Given the description of an element on the screen output the (x, y) to click on. 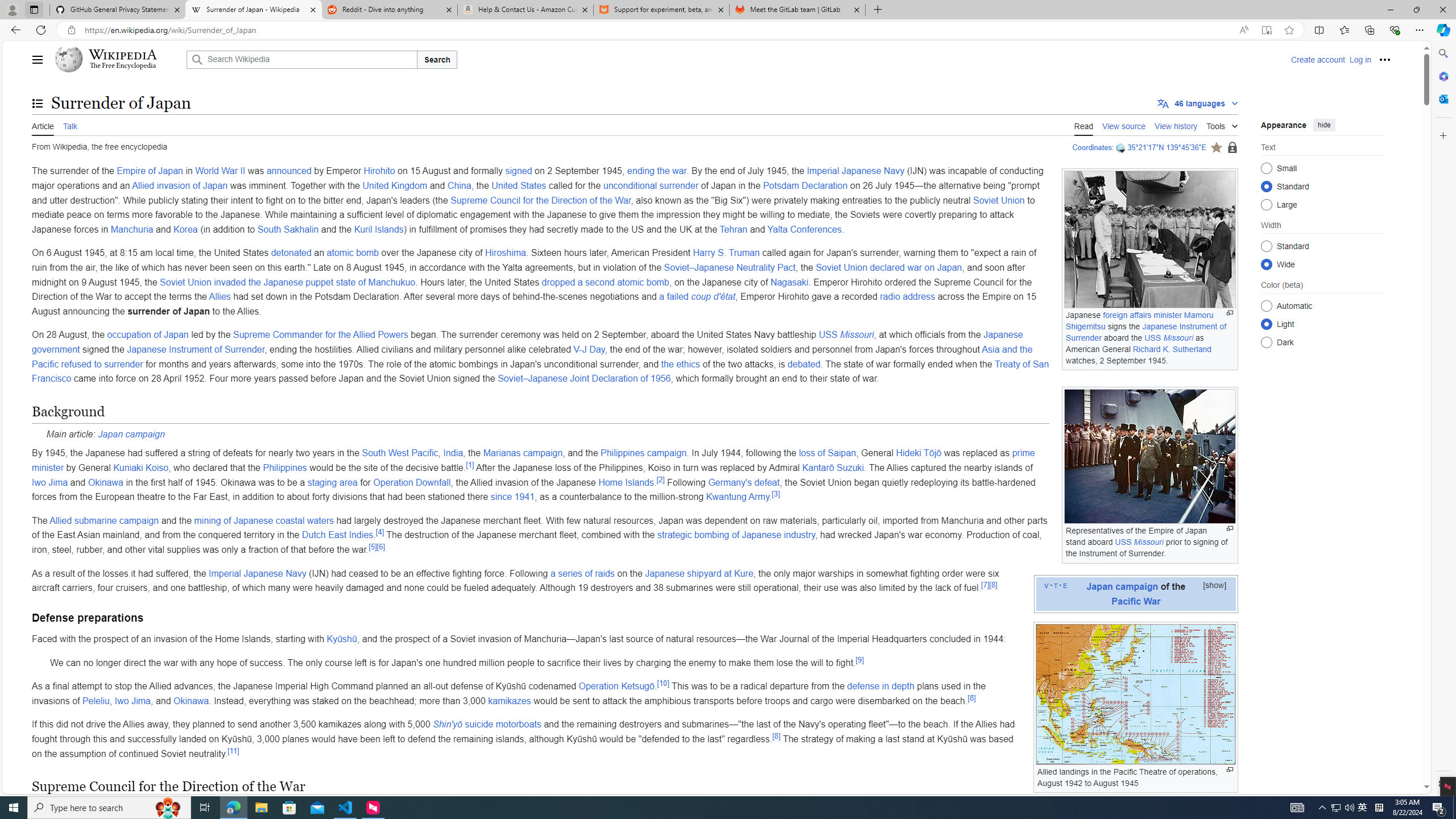
Help & Contact Us - Amazon Customer Service - Sleeping (525, 9)
[2] (660, 479)
Pacific War (1135, 600)
Kuniaki Koiso (140, 467)
Germany's defeat (743, 482)
Japan campaign (130, 433)
Featured article (1216, 147)
e (1064, 584)
Operation Downfall (411, 482)
View source (1123, 124)
[7] (985, 583)
United Kingdom (395, 185)
Log in (1360, 58)
